Given the description of an element on the screen output the (x, y) to click on. 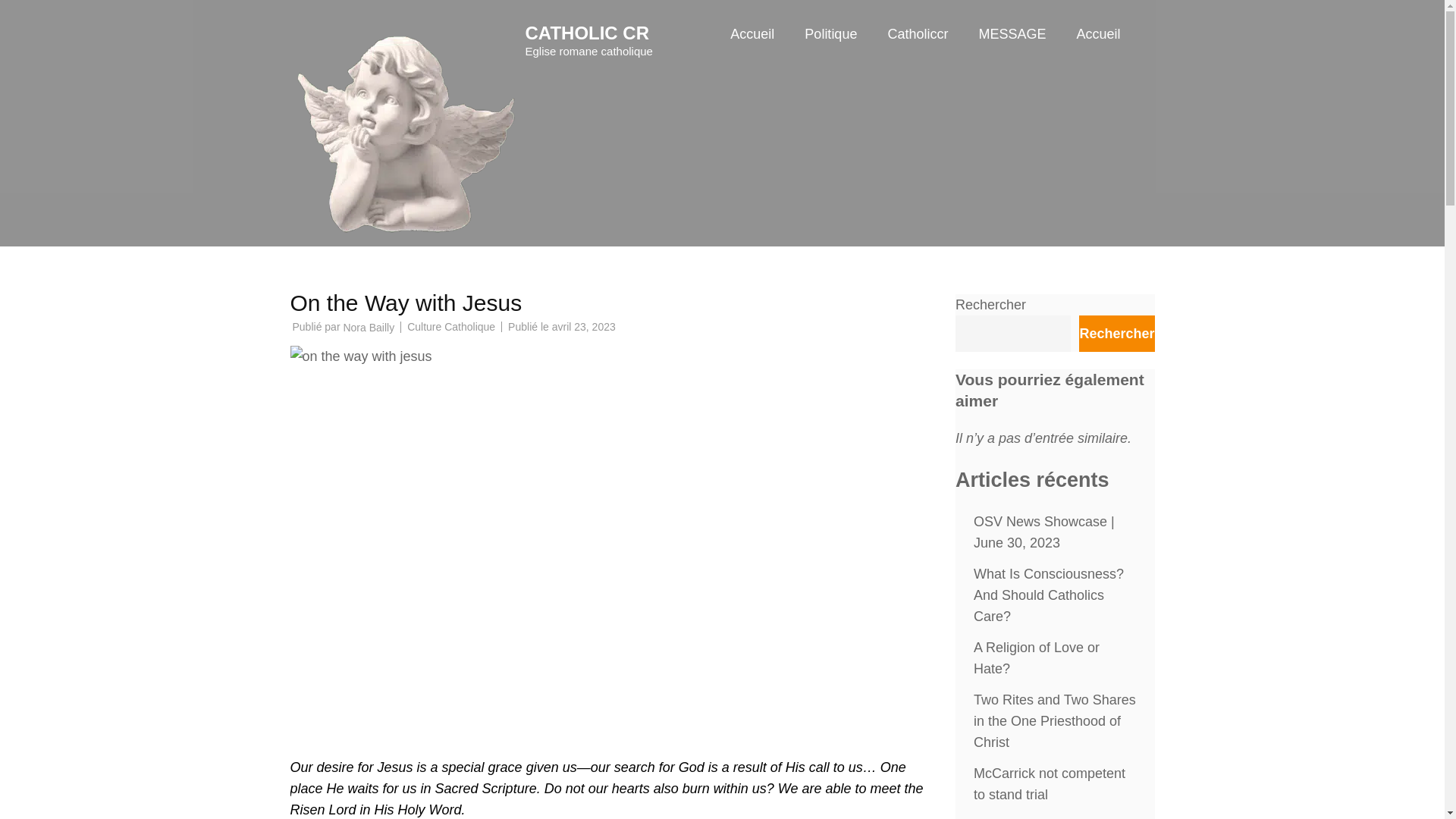
What Is Consciousness? And Should Catholics Care? (1049, 595)
Culture Catholique (451, 326)
Two Rites and Two Shares in the One Priesthood of Christ (1054, 721)
Catholiccr (916, 47)
avril 23, 2023 (583, 326)
A Religion of Love or Hate? (1036, 657)
Accueil (1097, 47)
CATHOLIC CR (586, 32)
Rechercher (1116, 333)
Accueil (752, 47)
MESSAGE (1011, 47)
Nora Bailly (368, 327)
Politique (831, 47)
McCarrick not competent to stand trial (1049, 783)
